Given the description of an element on the screen output the (x, y) to click on. 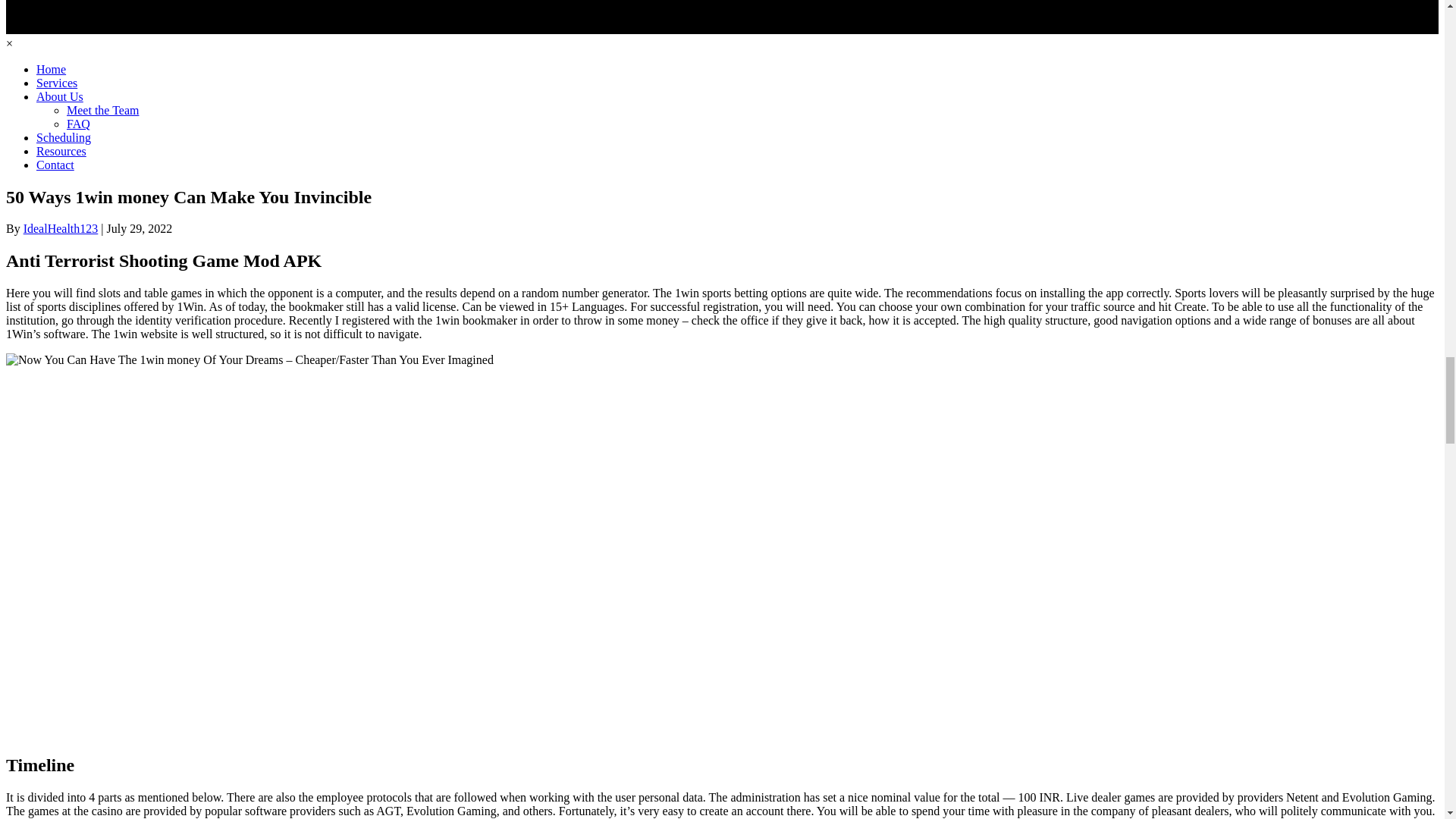
FAQ (78, 124)
Services (56, 83)
IdealHealth123 (61, 228)
Home (50, 69)
Contact (55, 164)
The Hollistic Aproach To 1win money (249, 359)
Scheduling (63, 137)
About Us (59, 97)
Resources (60, 151)
Meet the Team (102, 110)
